Given the description of an element on the screen output the (x, y) to click on. 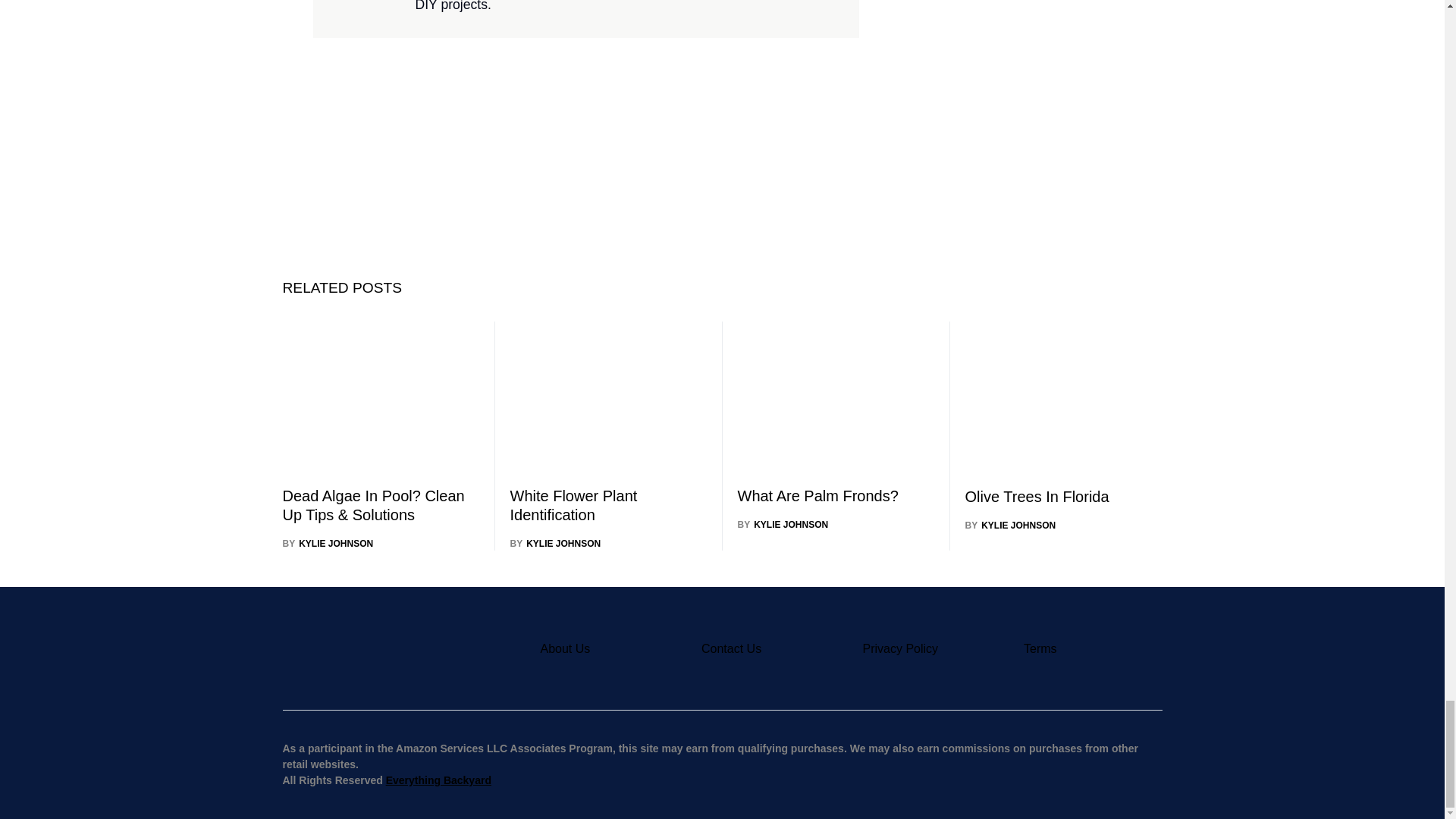
View all posts by Kylie Johnson (782, 524)
View all posts by Kylie Johnson (554, 543)
View all posts by Kylie Johnson (327, 543)
View all posts by Kylie Johnson (1009, 525)
